Given the description of an element on the screen output the (x, y) to click on. 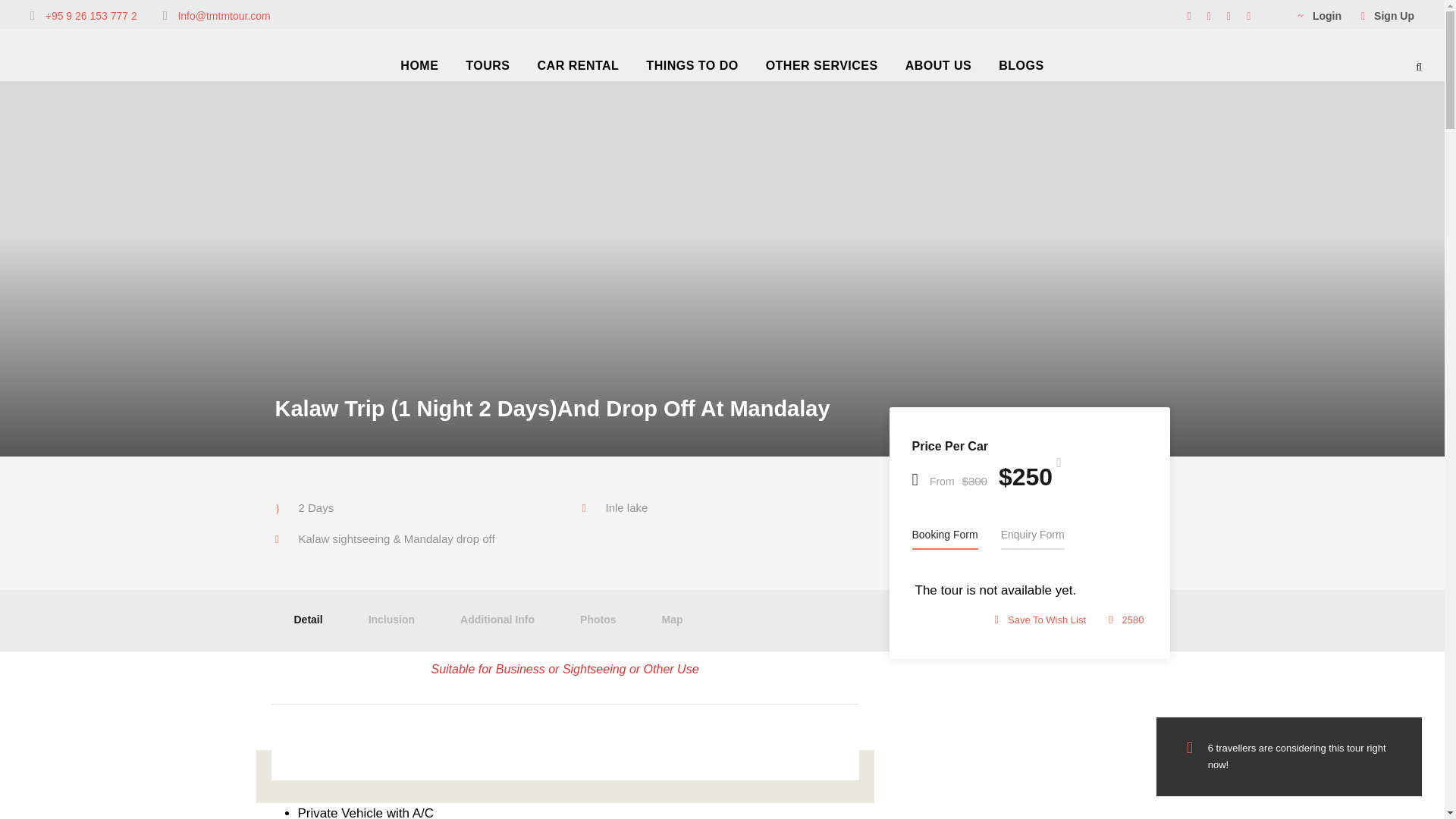
CAR RENTAL (578, 68)
Sign Up (1387, 15)
HOME (419, 68)
THINGS TO DO (692, 68)
Login (1318, 15)
Green Borderless Horizontal (89, 73)
TOURS (487, 68)
